Given the description of an element on the screen output the (x, y) to click on. 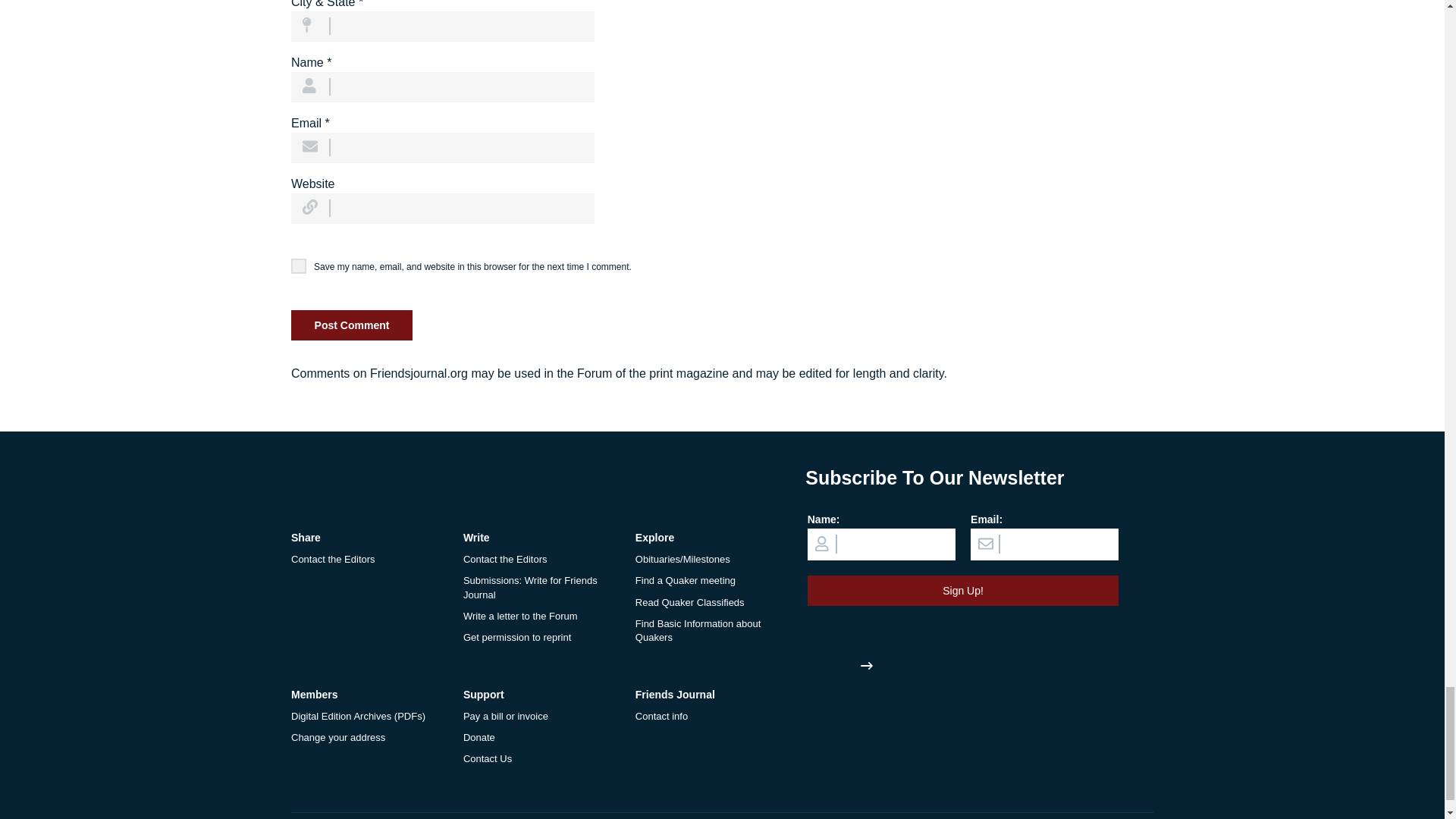
Post Comment (351, 325)
Sign Up! (963, 590)
